Given the description of an element on the screen output the (x, y) to click on. 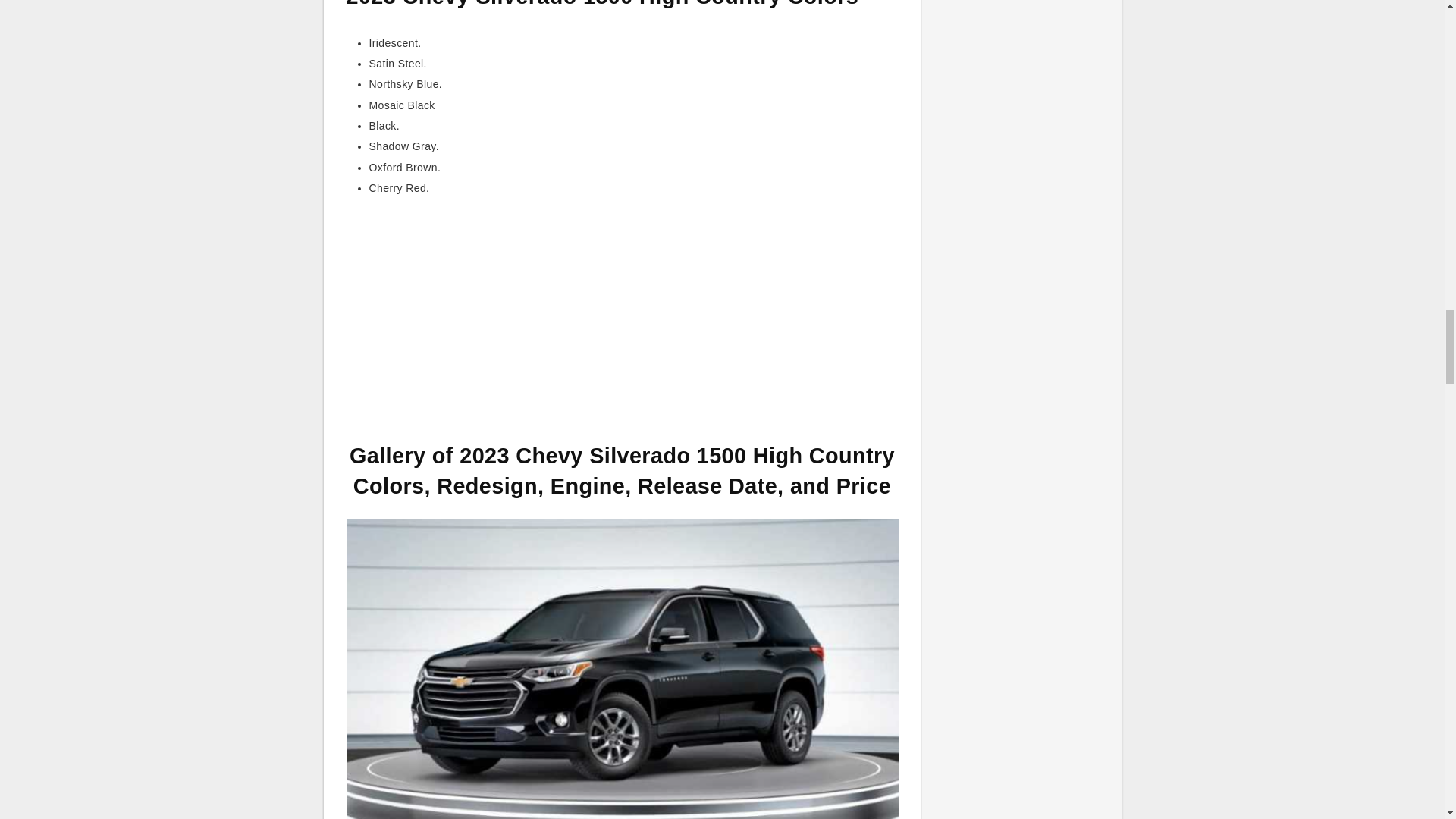
2023 Chevy Traverse 1LT (622, 677)
